Given the description of an element on the screen output the (x, y) to click on. 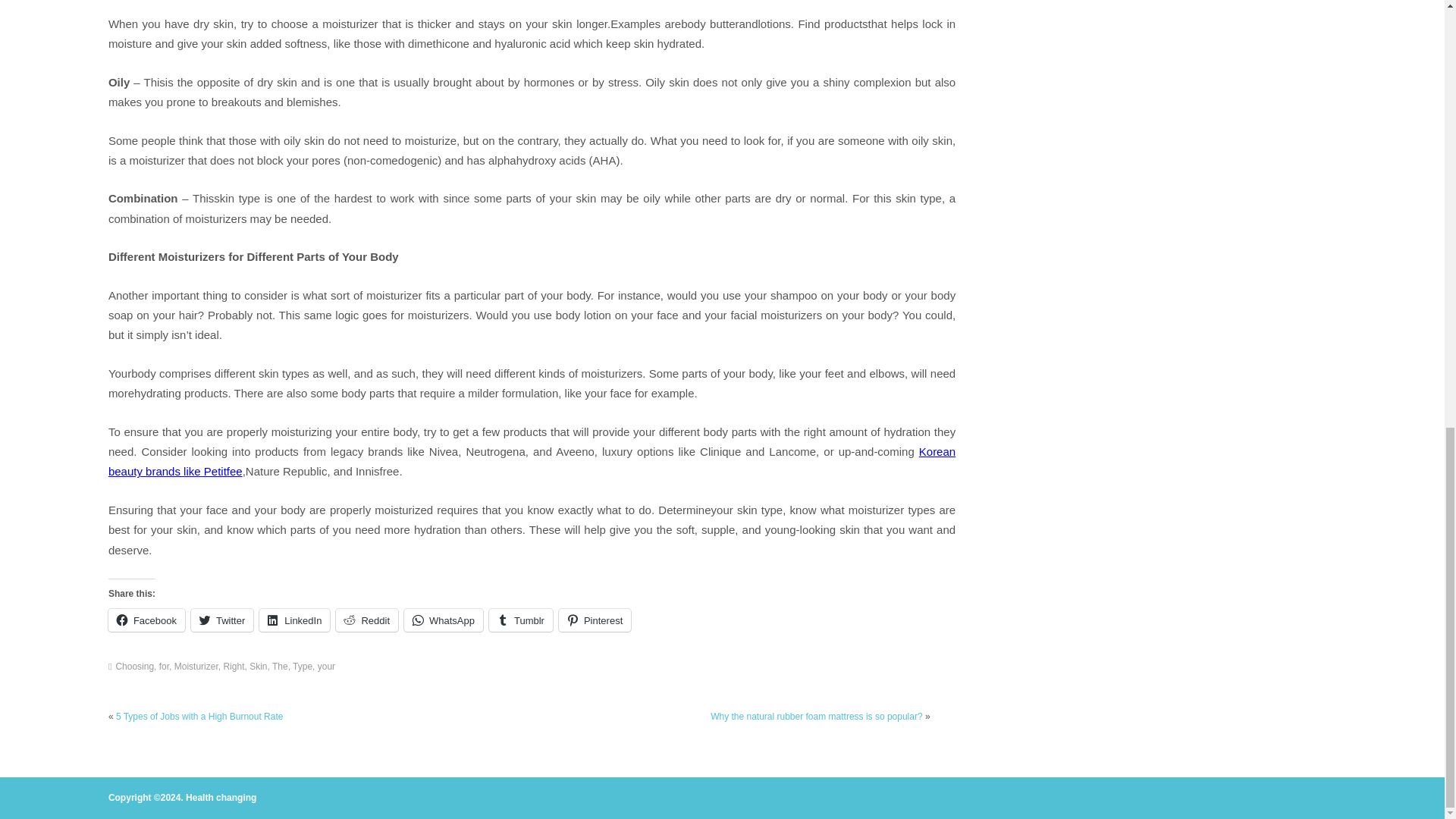
Click to share on Twitter (221, 620)
Click to share on Reddit (366, 620)
Click to share on WhatsApp (443, 620)
Click to share on LinkedIn (294, 620)
Twitter (221, 620)
Click to share on Facebook (145, 620)
LinkedIn (294, 620)
Click to share on Pinterest (594, 620)
Click to share on Tumblr (521, 620)
Reddit (366, 620)
Facebook (145, 620)
Korean beauty brands like Petitfee (531, 461)
